Given the description of an element on the screen output the (x, y) to click on. 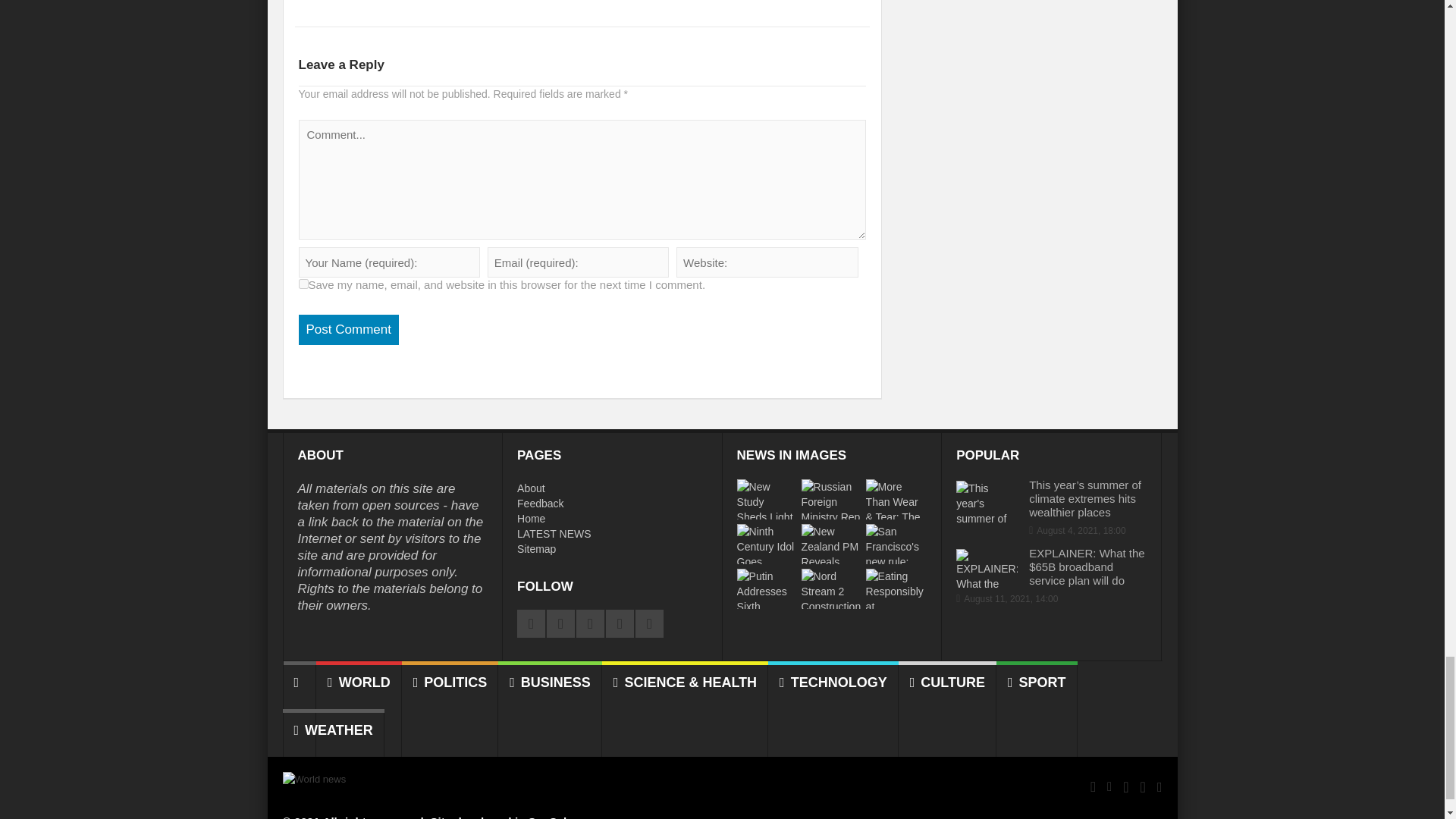
yes (303, 284)
Post Comment (348, 329)
